Given the description of an element on the screen output the (x, y) to click on. 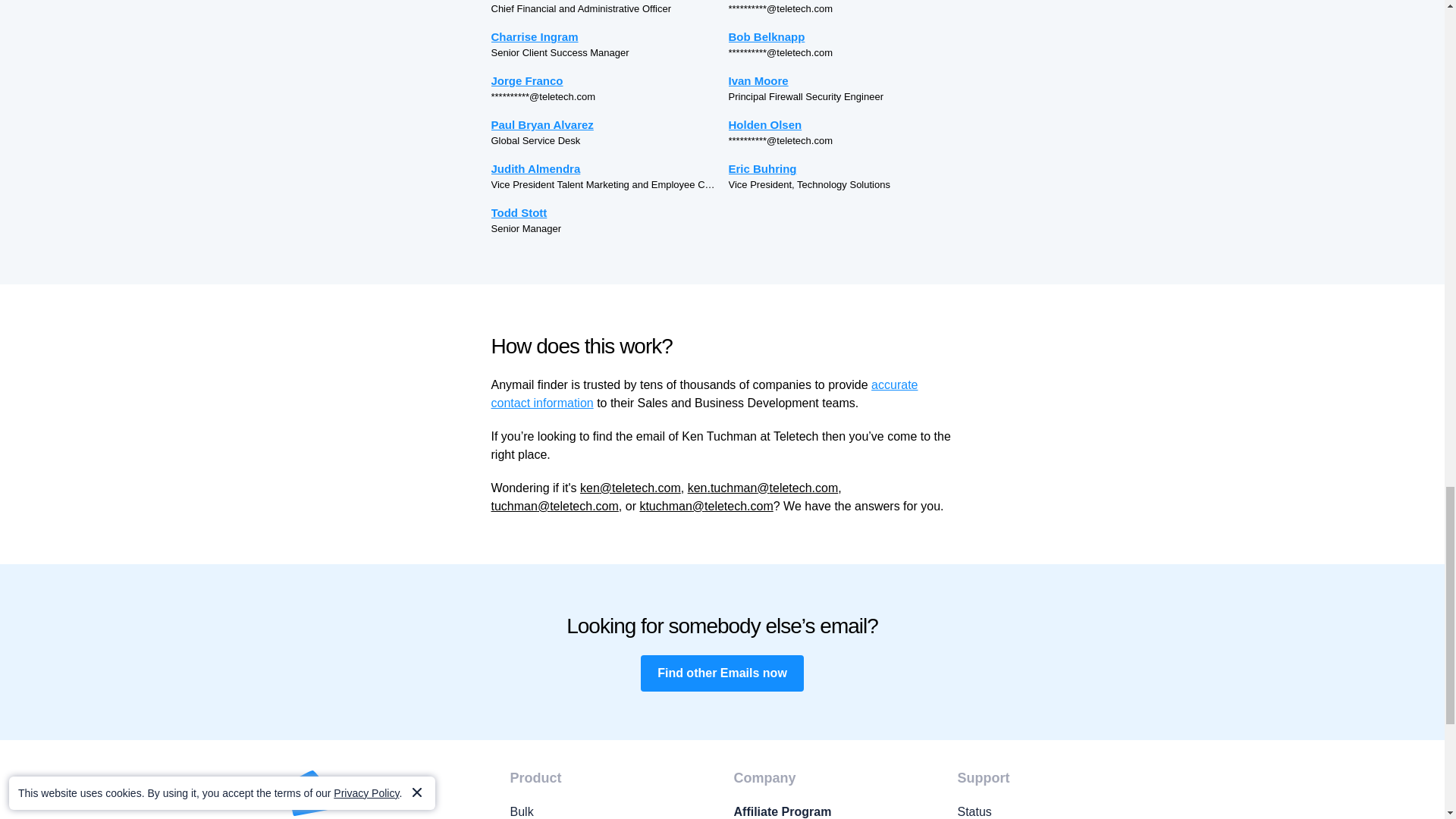
Ivan Moore (840, 80)
Holden Olsen (840, 124)
Judith Almendra (604, 168)
Jorge Franco (604, 80)
Bulk (609, 810)
Bob Belknapp (840, 36)
Paul Bryan Alvarez (604, 124)
Todd Stott (604, 212)
accurate contact information (705, 393)
Charrise Ingram (604, 36)
Eric Buhring (840, 168)
Find other Emails now (721, 673)
